Given the description of an element on the screen output the (x, y) to click on. 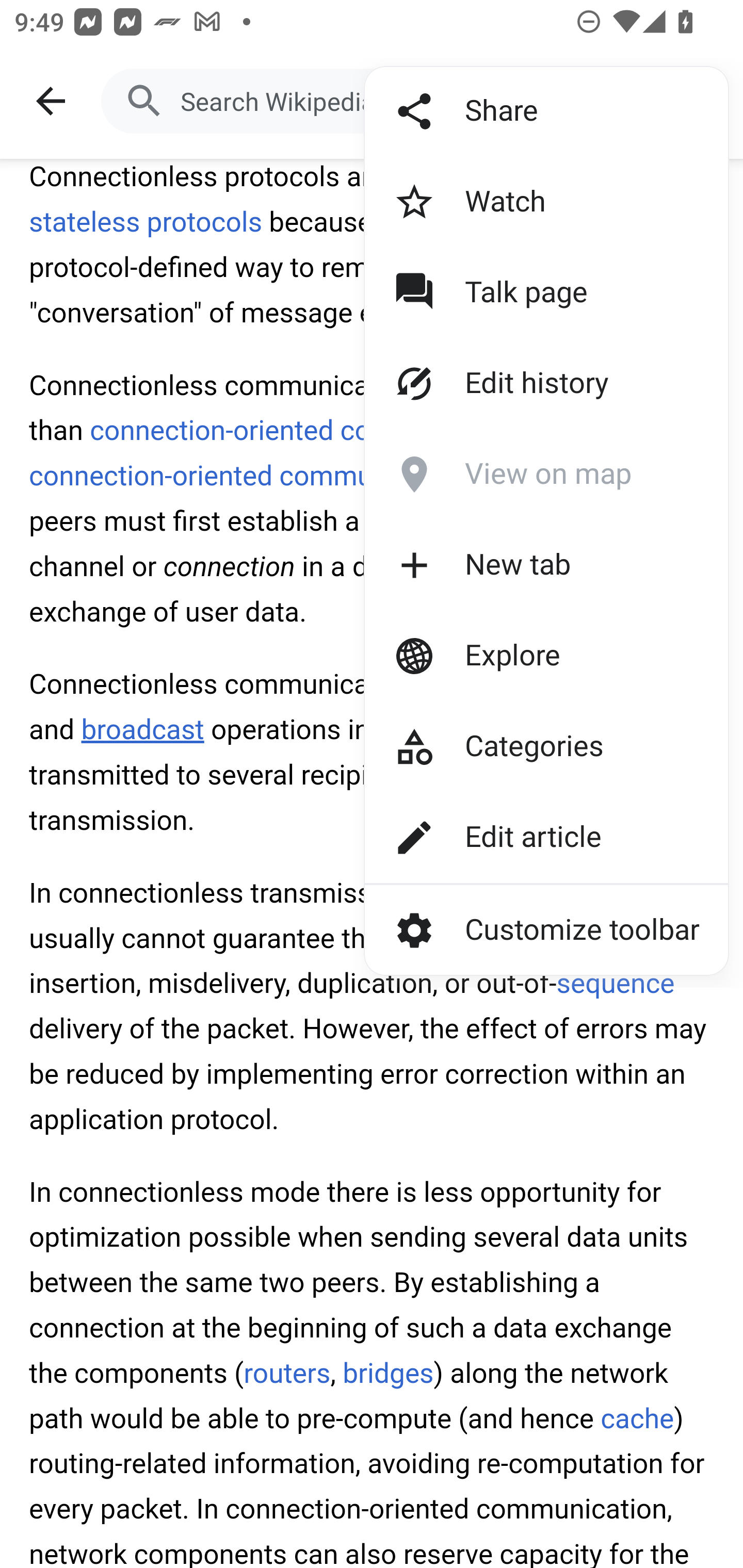
Share (512, 110)
Watch (512, 201)
Talk page (512, 292)
Edit history (512, 383)
View on map (512, 474)
New tab (512, 564)
Explore (512, 654)
Categories (512, 745)
Edit article (512, 836)
Customize toolbar (546, 929)
